Given the description of an element on the screen output the (x, y) to click on. 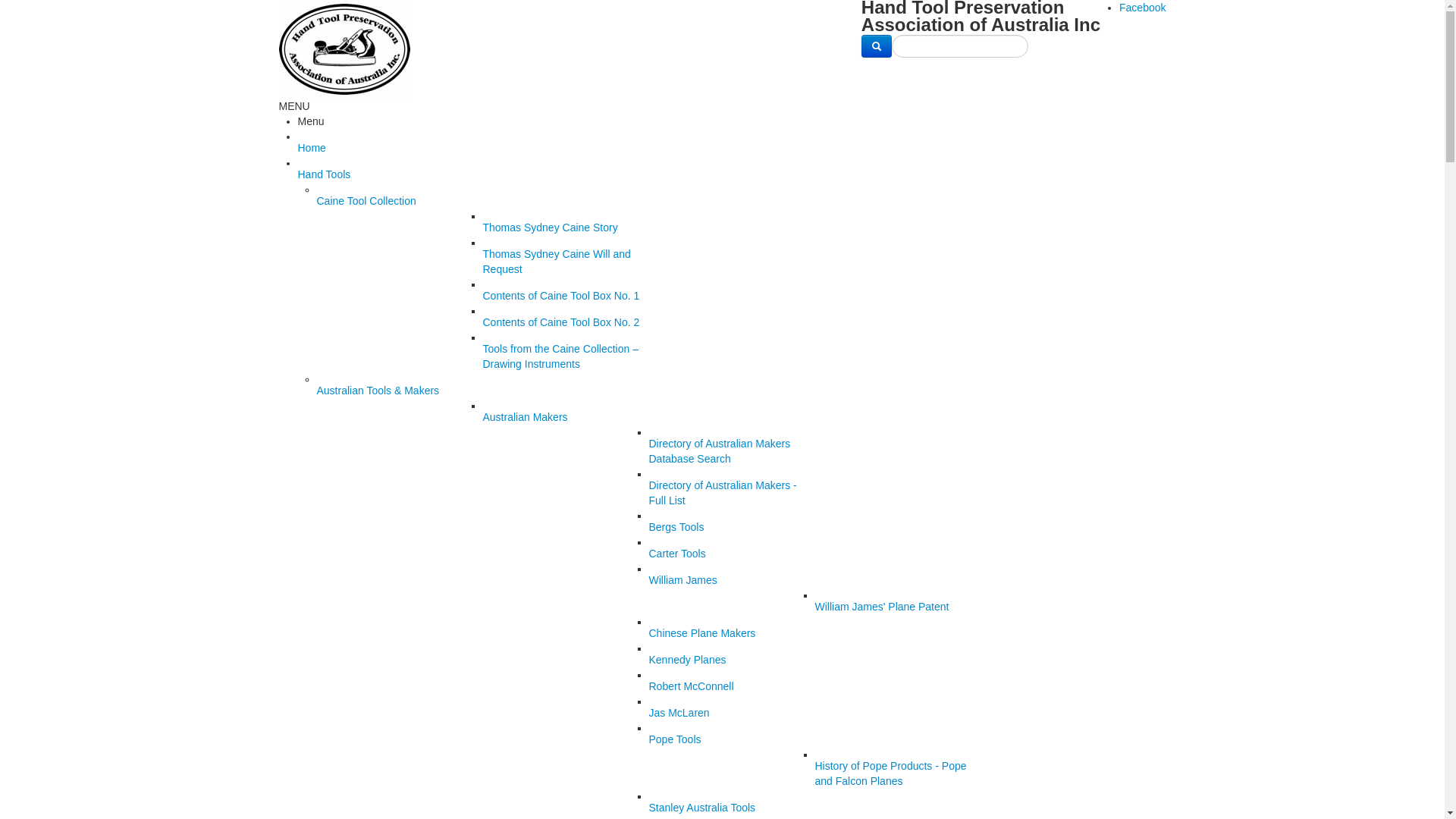
Stanley Australia Tools Element type: text (732, 808)
Directory of Australian Makers - Full List Element type: text (732, 494)
Kennedy Planes Element type: text (732, 660)
Jas McLaren Element type: text (732, 713)
Chinese Plane Makers Element type: text (732, 634)
Bergs Tools Element type: text (732, 528)
William James' Plane Patent Element type: text (897, 607)
Contents of Caine Tool Box No. 1 Element type: text (565, 296)
Thomas Sydney Caine Will and Request Element type: text (565, 262)
Directory of Australian Makers Database Search Element type: text (732, 452)
Robert McConnell Element type: text (732, 687)
Carter Tools Element type: text (732, 554)
William James Element type: text (732, 581)
Facebook Element type: text (1142, 7)
Australian Tools & Makers Element type: text (399, 391)
Caine Tool Collection Element type: text (399, 202)
Australian Makers Element type: text (565, 418)
Home Element type: text (731, 148)
Pope Tools Element type: text (732, 740)
Hand Tools Element type: text (731, 175)
History of Pope Products - Pope and Falcon Planes Element type: text (897, 774)
Go Element type: hover (876, 45)
Thomas Sydney Caine Story Element type: text (565, 228)
Contents of Caine Tool Box No. 2 Element type: text (565, 323)
